Given the description of an element on the screen output the (x, y) to click on. 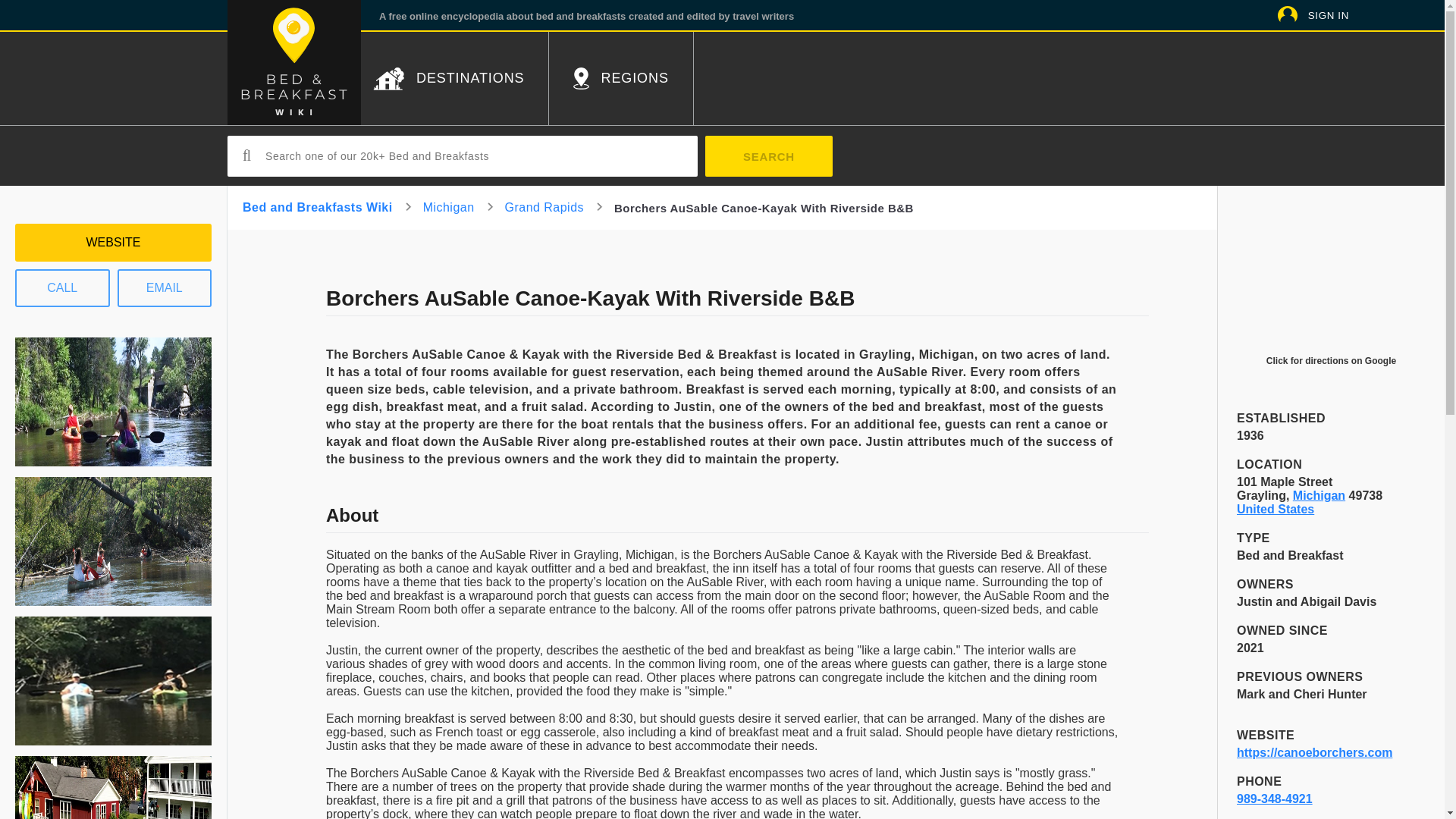
Grand Rapids (544, 206)
SIGN IN (1328, 13)
United States (1275, 508)
SEARCH (768, 155)
Bed and Breakfasts Wiki (318, 206)
CALL (62, 288)
EMAIL (163, 288)
Michigan (1318, 495)
WEBSITE (112, 242)
REGIONS (620, 78)
